Given the description of an element on the screen output the (x, y) to click on. 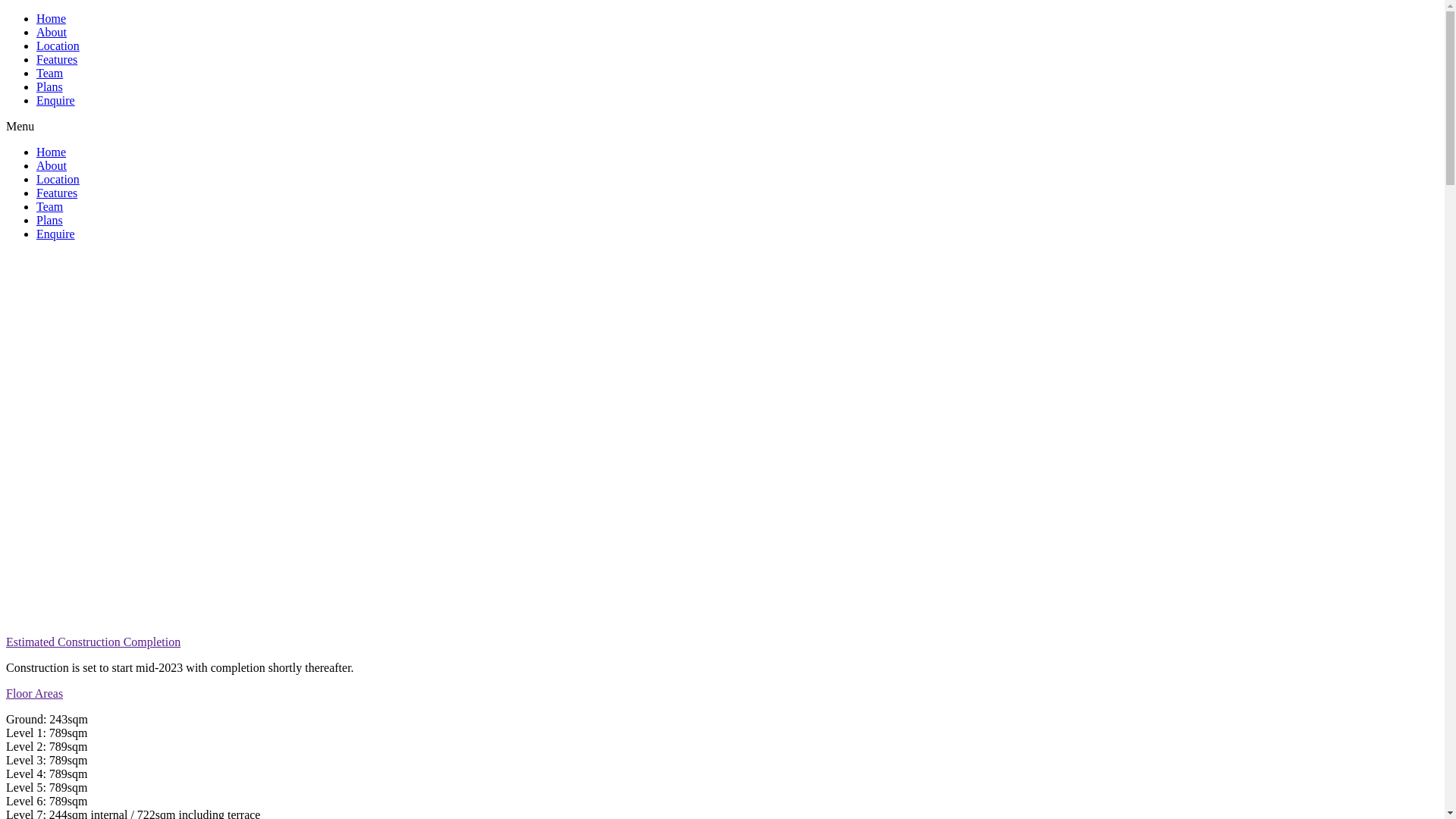
Floor Areas Element type: text (34, 693)
Enquire Element type: text (55, 100)
Features Element type: text (56, 192)
Plans Element type: text (49, 86)
Features Element type: text (56, 59)
Home Element type: text (50, 151)
Team Element type: text (49, 206)
Home Element type: text (50, 18)
Team Element type: text (49, 72)
Enquire Element type: text (55, 233)
Estimated Construction Completion Element type: text (93, 641)
About Element type: text (51, 165)
Location Element type: text (57, 45)
Plans Element type: text (49, 219)
About Element type: text (51, 31)
Location Element type: text (57, 178)
